Given the description of an element on the screen output the (x, y) to click on. 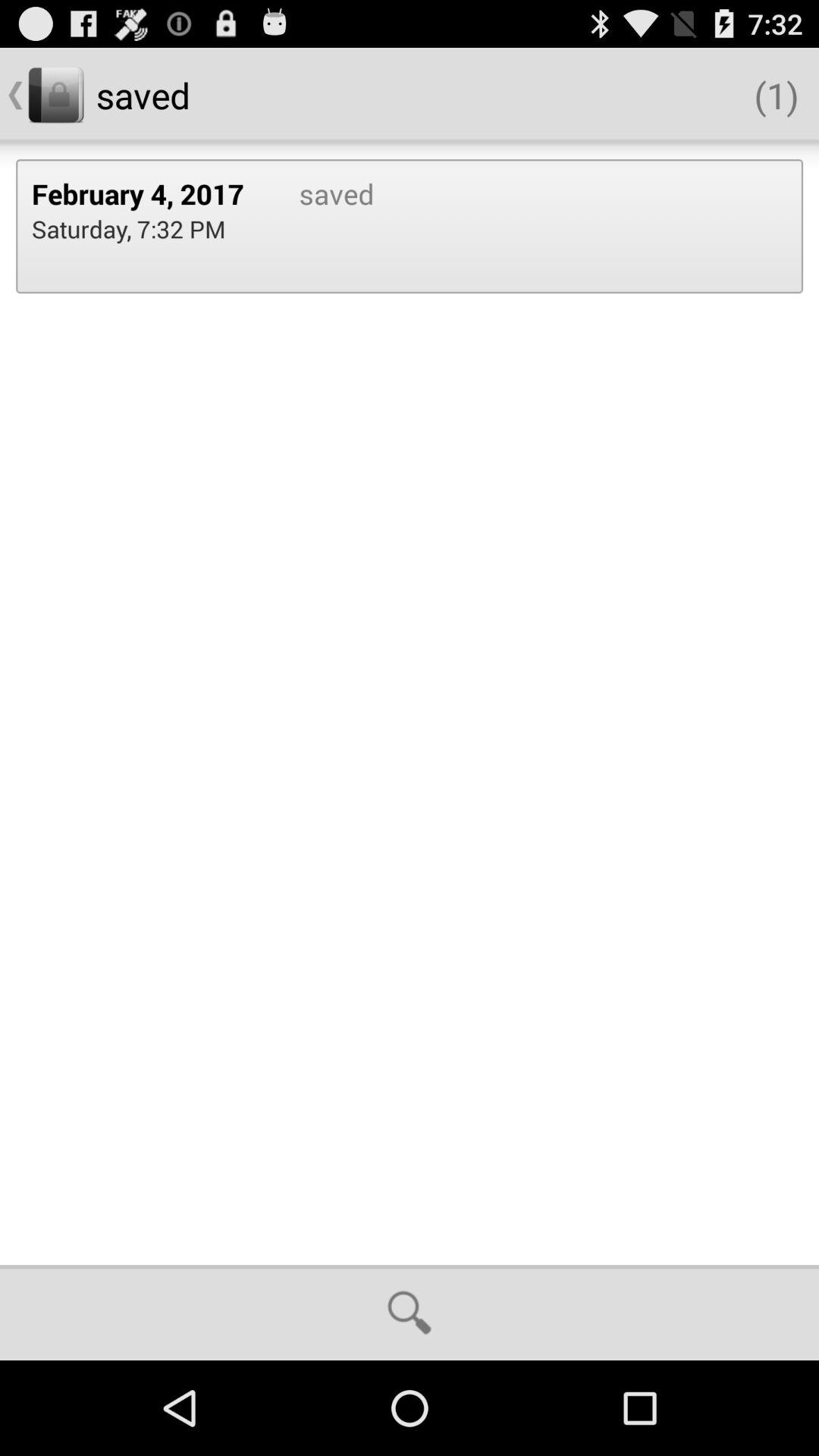
press app to the left of saved (128, 228)
